Given the description of an element on the screen output the (x, y) to click on. 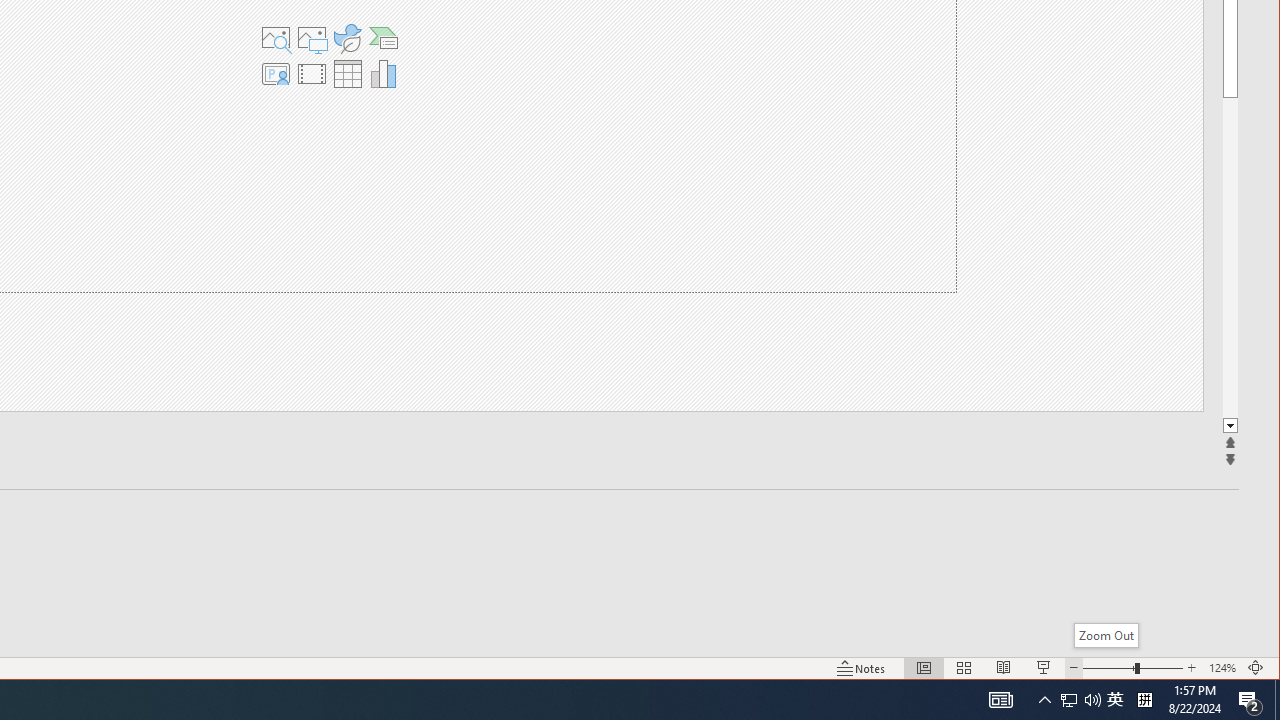
Stock Images (275, 38)
Insert Cameo (275, 74)
Insert Chart (383, 74)
Insert an Icon (347, 38)
Pictures (311, 38)
Insert a SmartArt Graphic (383, 38)
Action Center, 2 new notifications (1250, 699)
Zoom 124% (1222, 668)
